Given the description of an element on the screen output the (x, y) to click on. 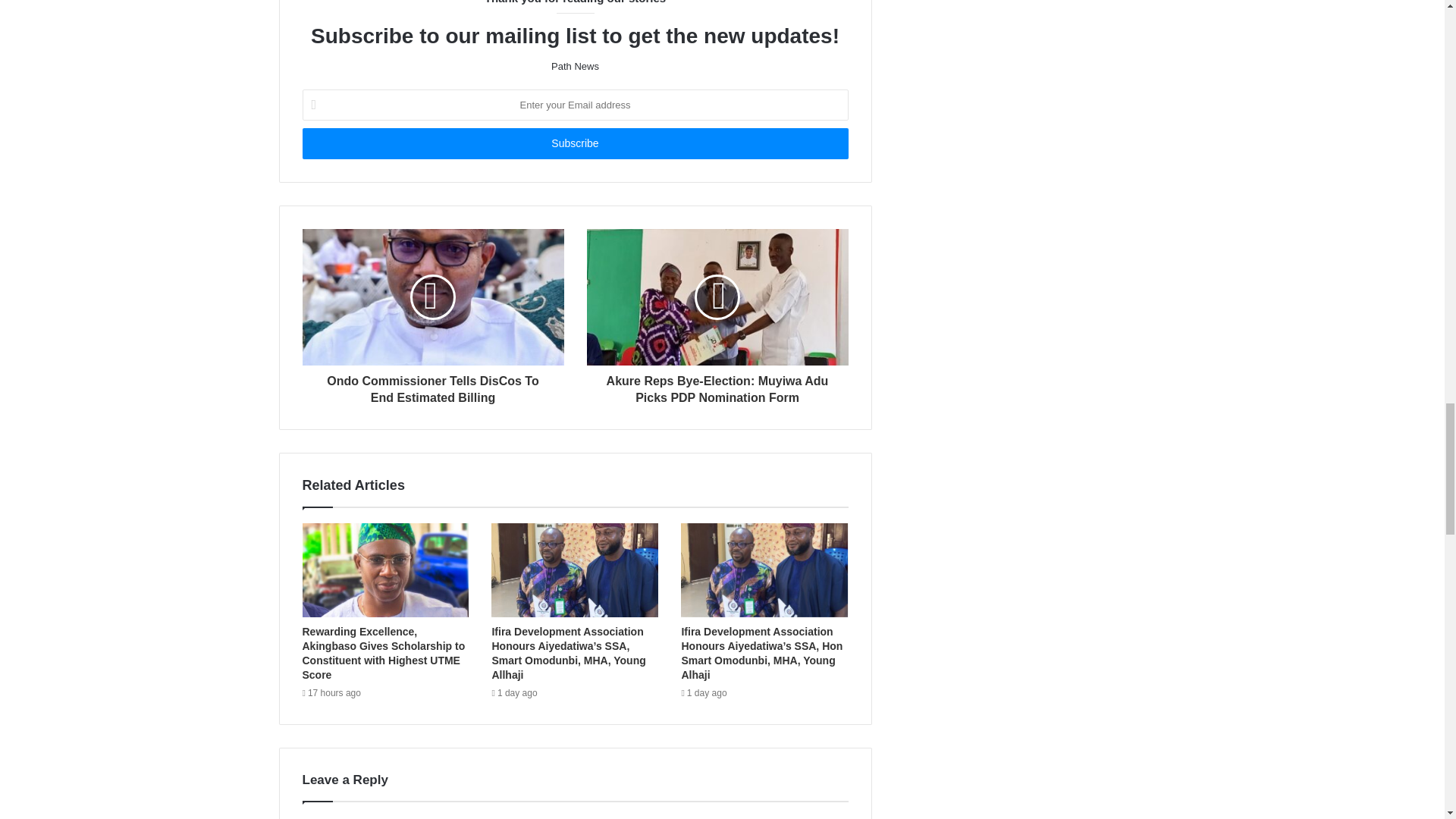
Subscribe (574, 142)
